Given the description of an element on the screen output the (x, y) to click on. 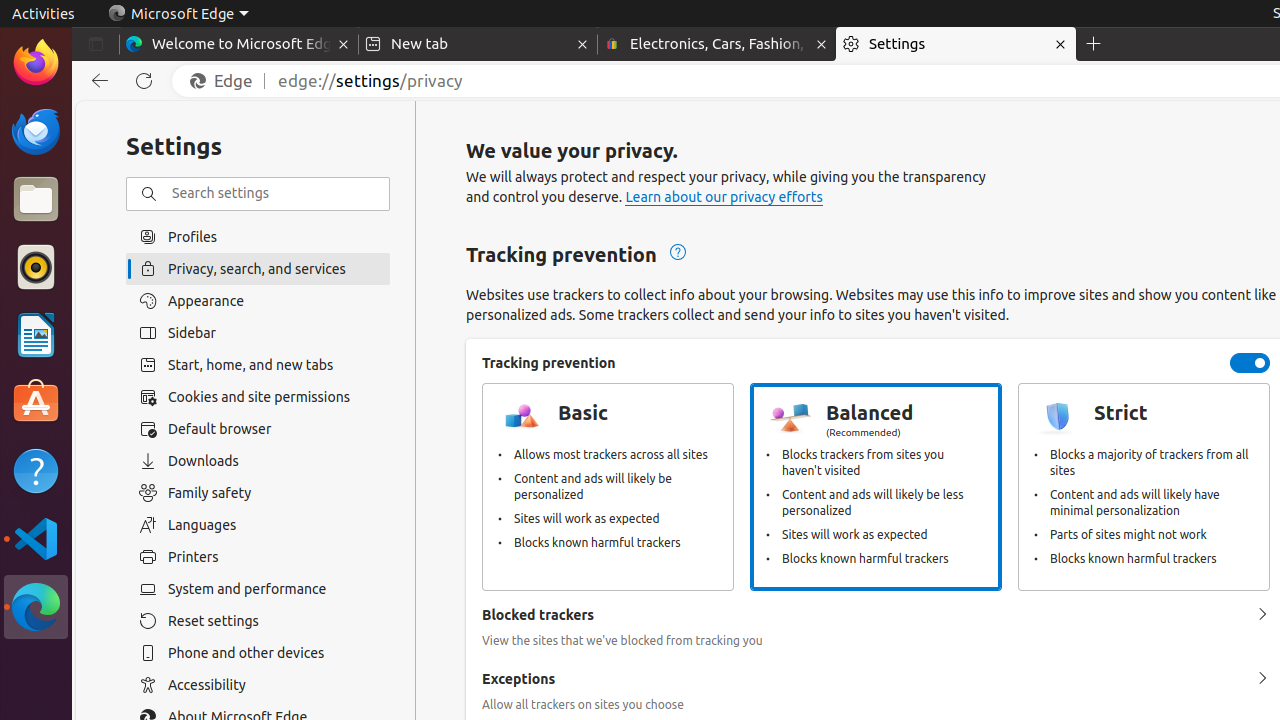
Strict Blocks a majority of trackers from all sites Content and ads will likely have minimal personalization Parts of sites might not work Blocks known harmful trackers Element type: radio-button (1144, 487)
Tracking prevention, learn more Element type: push-button (675, 253)
Settings Element type: page-tab (956, 44)
Printers Element type: tree-item (258, 557)
Exceptions Element type: push-button (1262, 679)
